Given the description of an element on the screen output the (x, y) to click on. 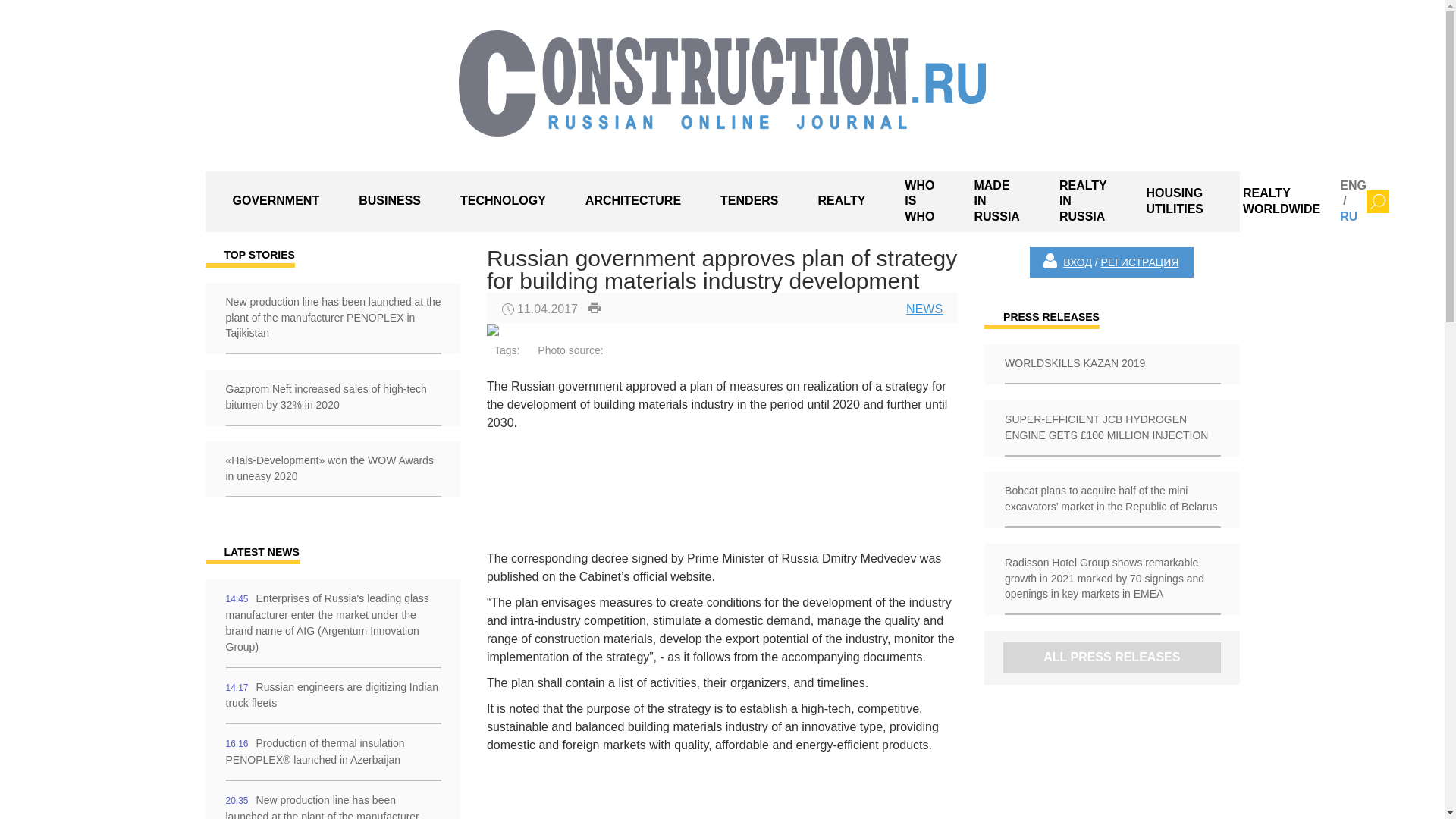
Close (1378, 201)
Advertisement (634, 491)
All Press Releases (1111, 657)
NEWS (923, 308)
REALTY WORLDWIDE (1281, 201)
REALTY (841, 201)
14:17Russian engineers are digitizing Indian truck fleets (332, 696)
TECHNOLOGY (503, 201)
TENDERS (748, 201)
BUSINESS (390, 201)
HOUSING UTILITIES (1174, 201)
REALTY IN RUSSIA (1082, 201)
GOVERNMENT (275, 201)
WHO IS WHO (919, 201)
